Given the description of an element on the screen output the (x, y) to click on. 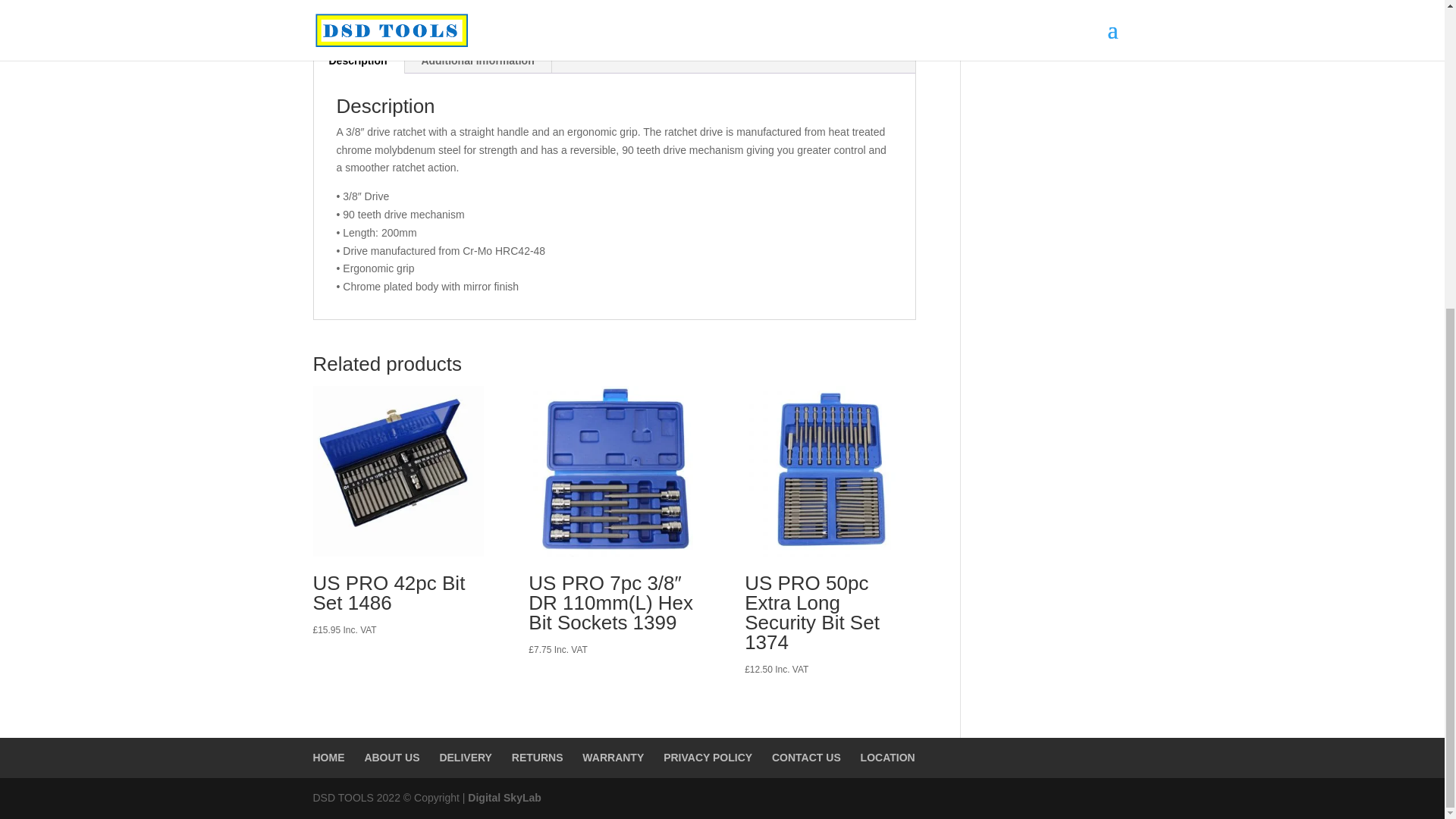
Digital Marketing (503, 797)
